Given the description of an element on the screen output the (x, y) to click on. 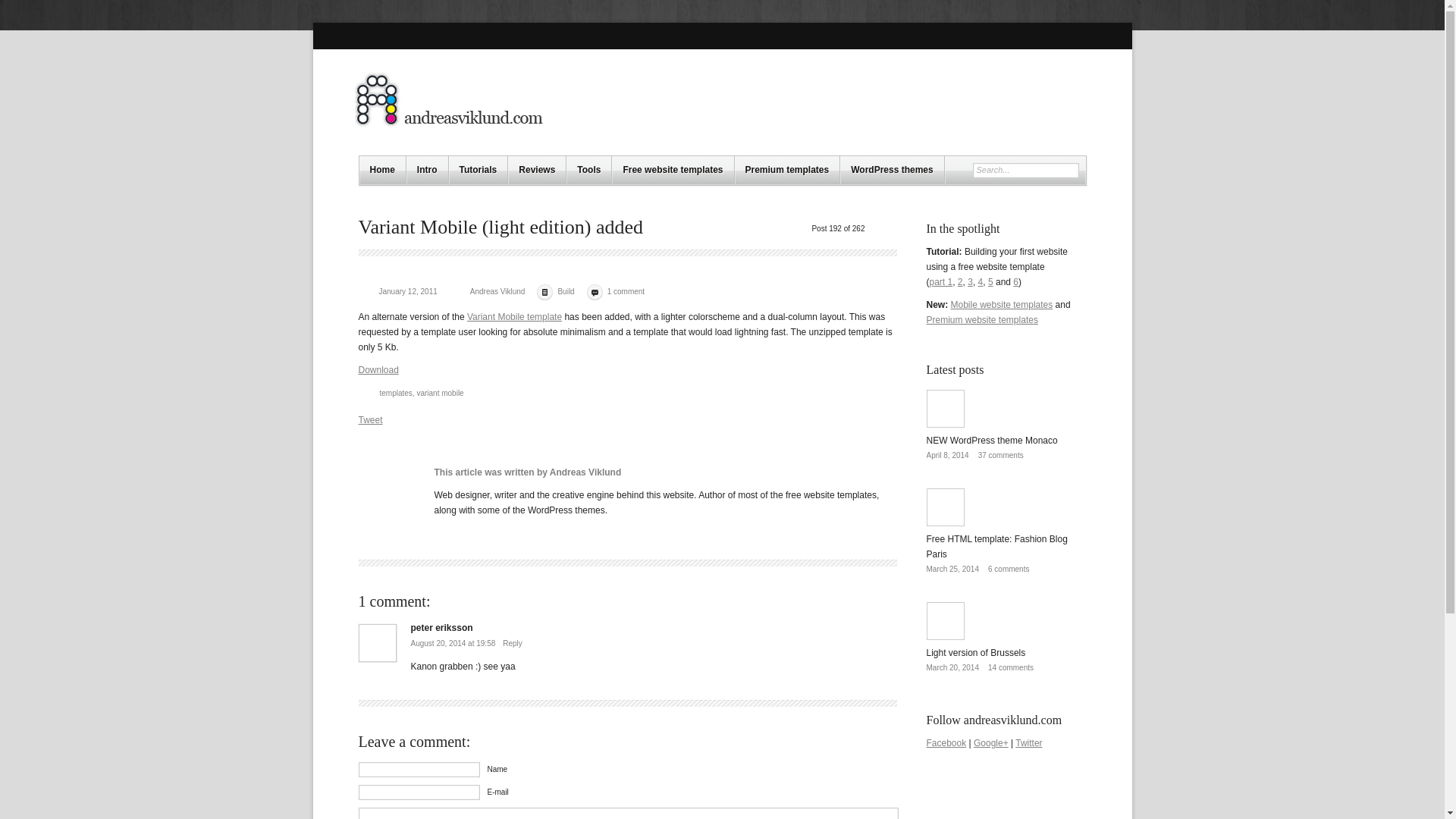
Intro (427, 170)
Reviews (537, 170)
variant mobile (439, 393)
Tools (588, 170)
Build (565, 291)
Tutorials (478, 170)
Tweet (369, 419)
Search... (1019, 170)
Download (377, 369)
Variant Mobile template (514, 317)
